Given the description of an element on the screen output the (x, y) to click on. 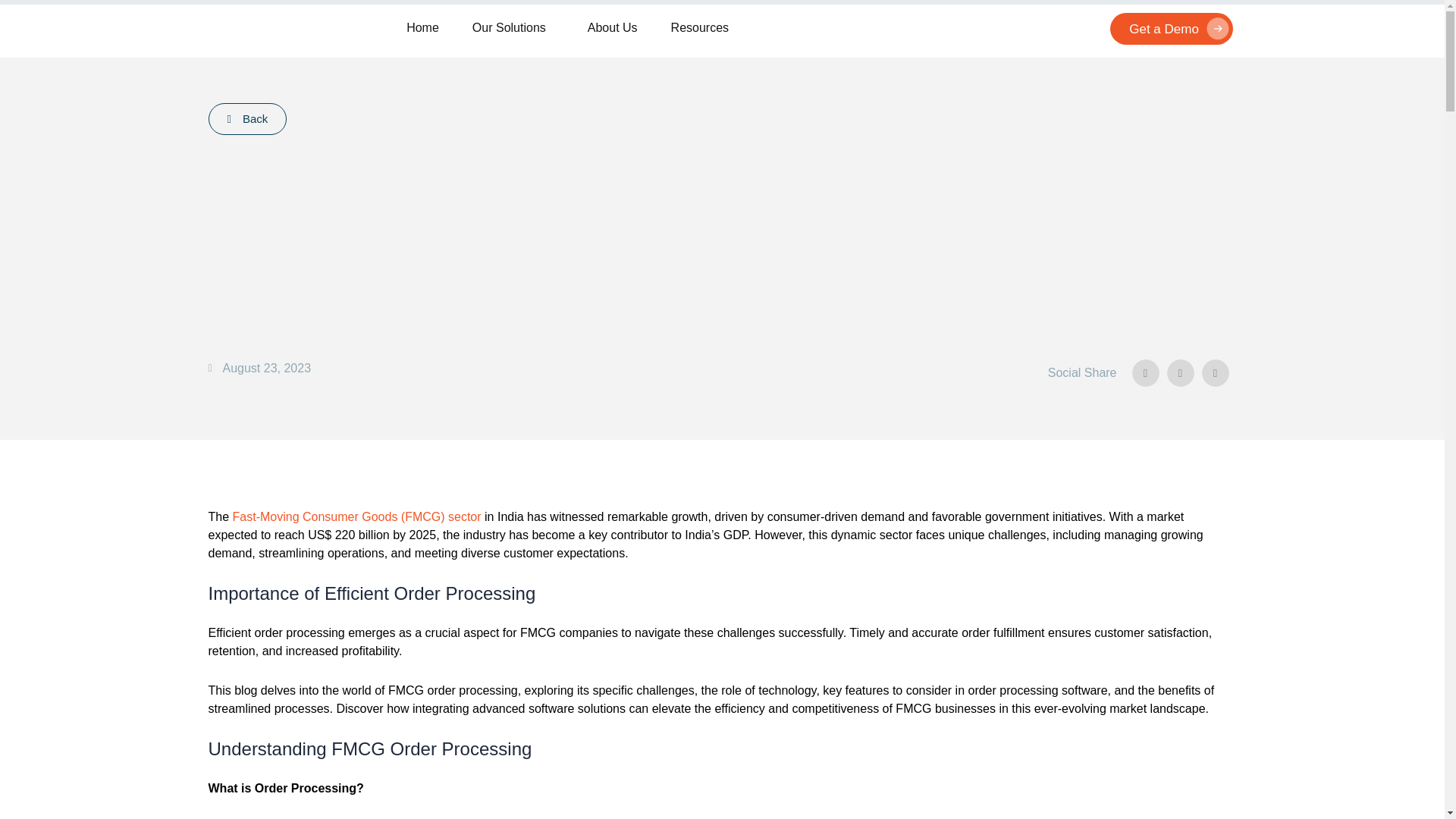
Get a Demo (1171, 29)
Resources (700, 28)
Our Solutions (512, 28)
Back (247, 119)
